Given the description of an element on the screen output the (x, y) to click on. 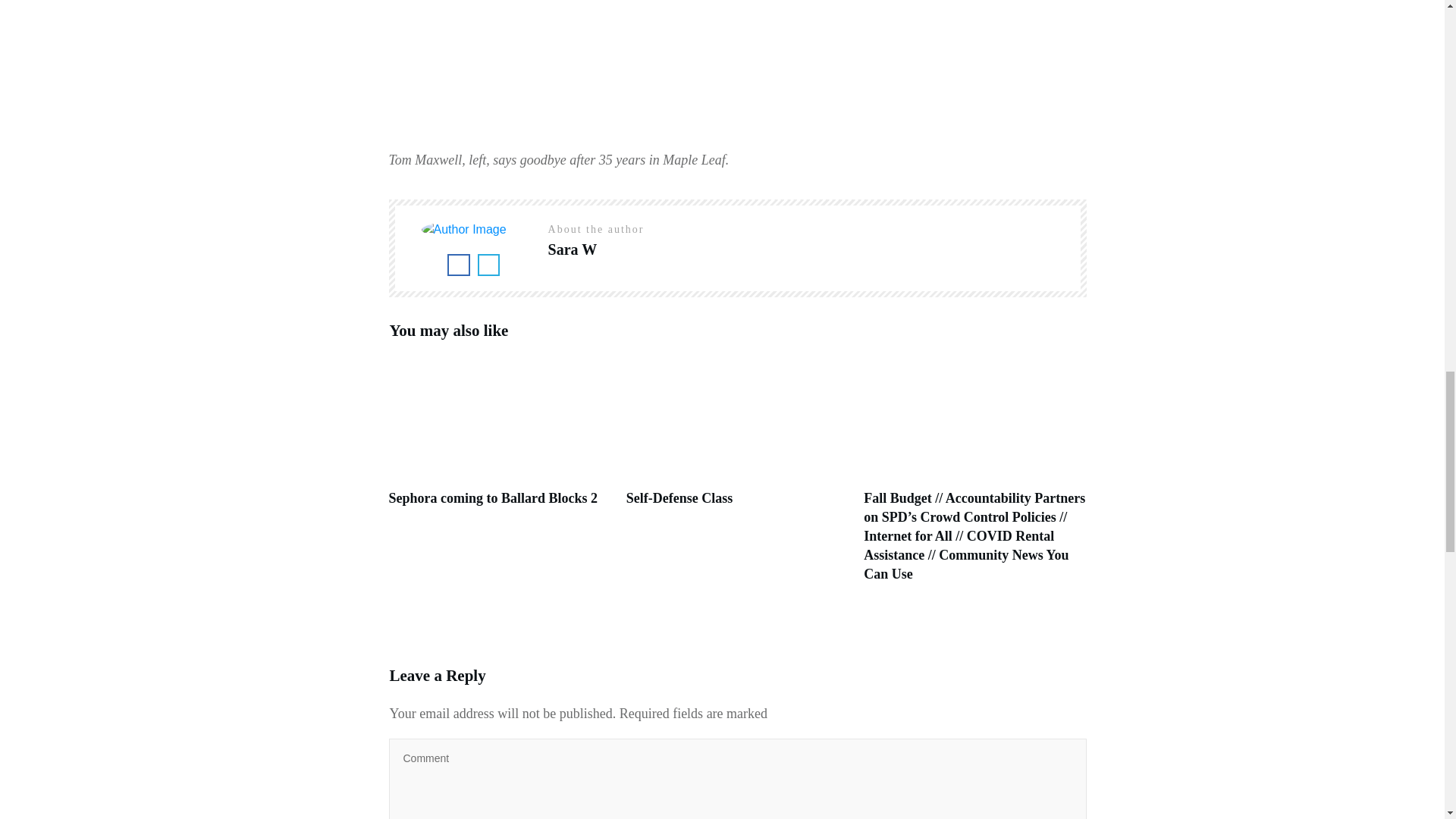
Sephora coming to Ballard Blocks 2 (492, 498)
Self-Defense Class (679, 498)
Sephora coming to Ballard Blocks 2 (499, 478)
Sephora coming to Ballard Blocks 2 (492, 498)
Self-Defense Class (679, 498)
TomMaxwell (558, 74)
